Given the description of an element on the screen output the (x, y) to click on. 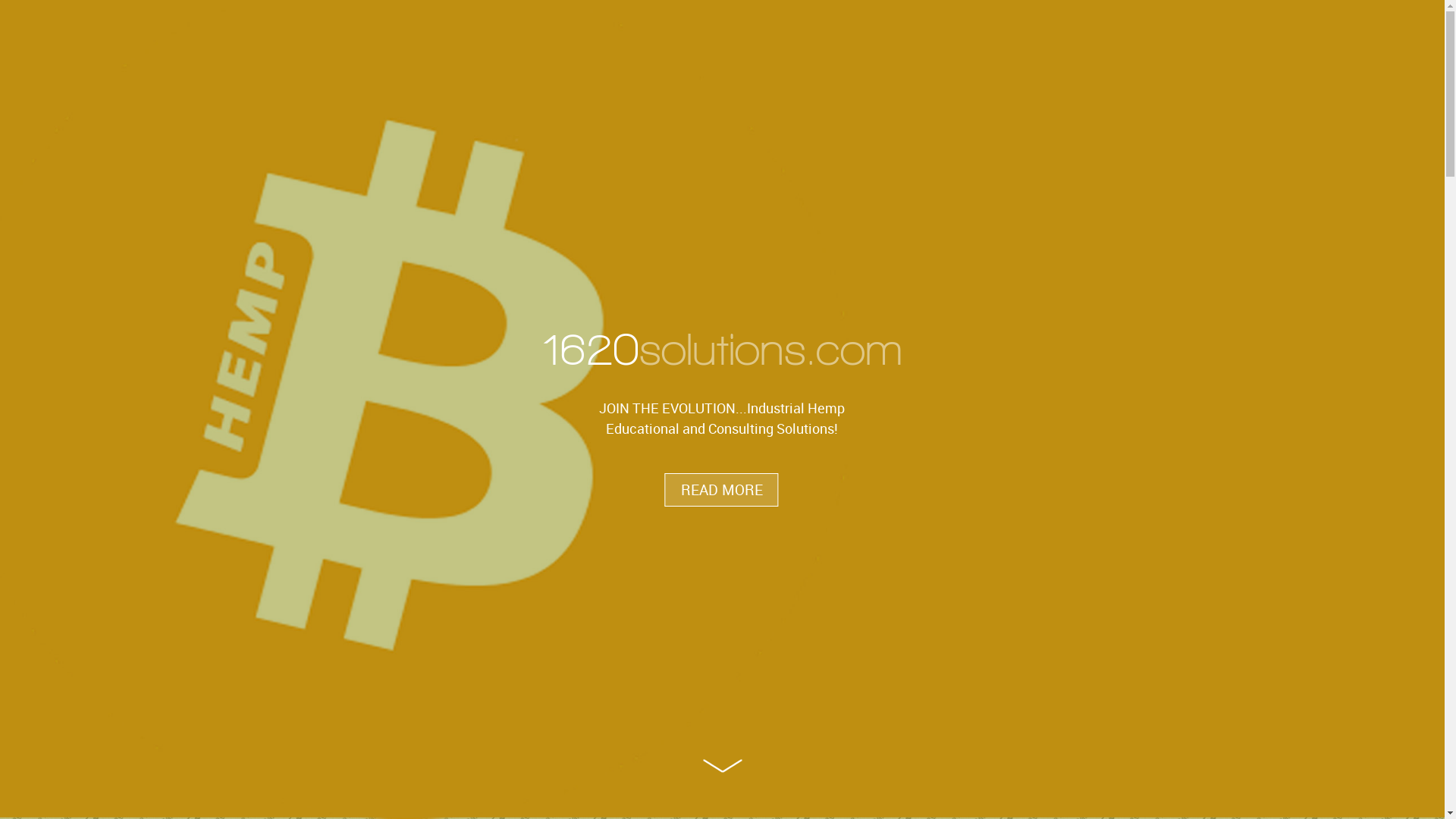
READ MORE Element type: text (721, 489)
